Given the description of an element on the screen output the (x, y) to click on. 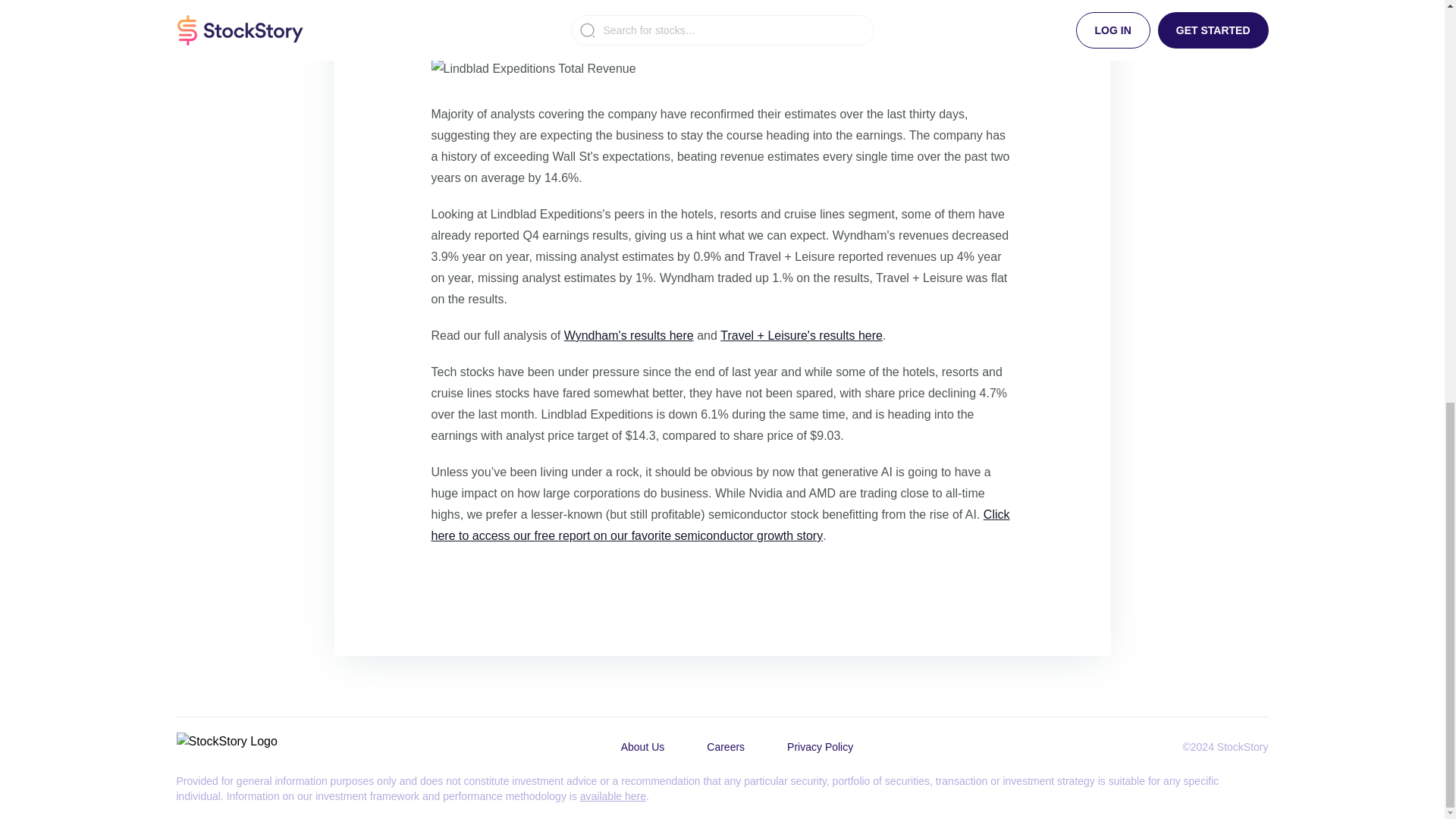
Wyndham's results here (629, 335)
Privacy Policy (819, 746)
Careers (725, 746)
available here (612, 796)
About Us (642, 746)
